Given the description of an element on the screen output the (x, y) to click on. 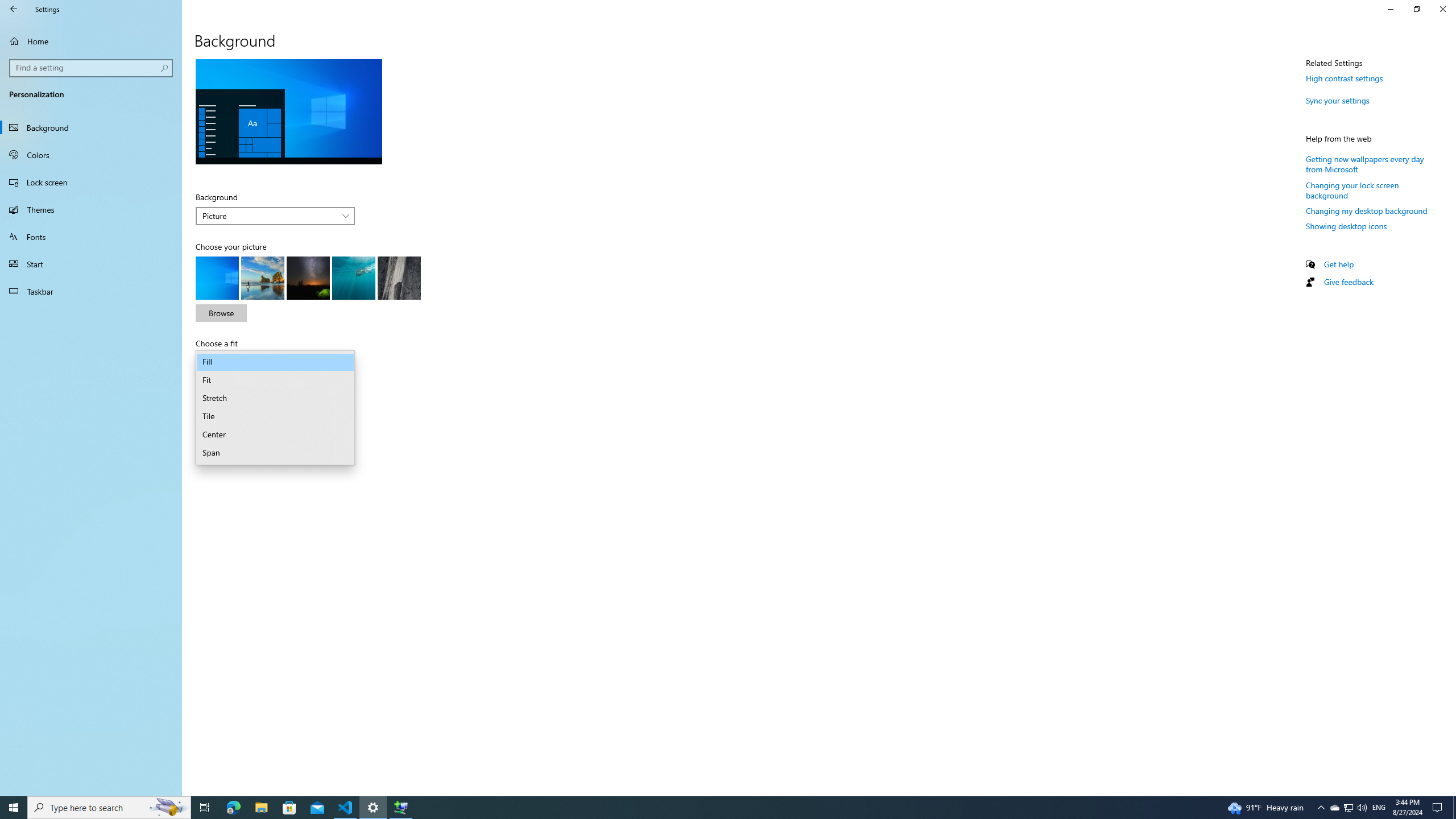
Extensible Wizards Host Process - 1 running window (400, 807)
Give feedback (1348, 281)
Notification Chevron (1320, 807)
Q2790: 100% (1361, 807)
User Promoted Notification Area (1347, 807)
Microsoft Edge (233, 807)
Changing my desktop background (1366, 210)
Task View (204, 807)
Search highlights icon opens search home window (167, 807)
Close Settings (1442, 9)
Fill (274, 361)
Center (274, 434)
Fit (274, 380)
Background (275, 216)
Show desktop (1454, 807)
